Given the description of an element on the screen output the (x, y) to click on. 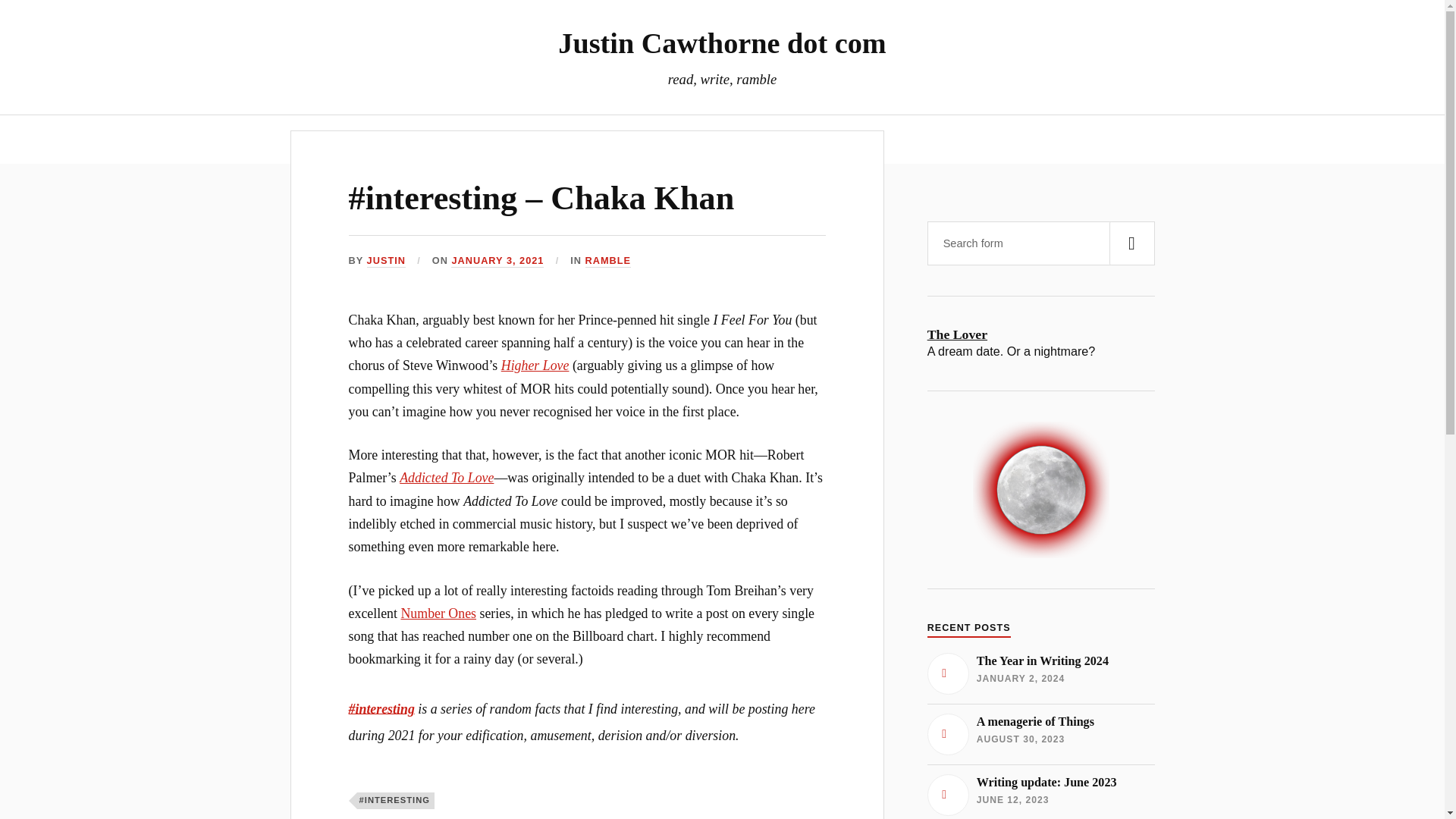
Higher Love (534, 365)
Slightly Odd Tales (616, 138)
Posts by Justin (386, 260)
Justin Cawthorne dot com (1040, 733)
Addicted To Love (721, 42)
There Is A Light That Never Goes Out (445, 477)
JANUARY 3, 2021 (782, 138)
RAMBLE (497, 260)
JUSTIN (608, 260)
